Given the description of an element on the screen output the (x, y) to click on. 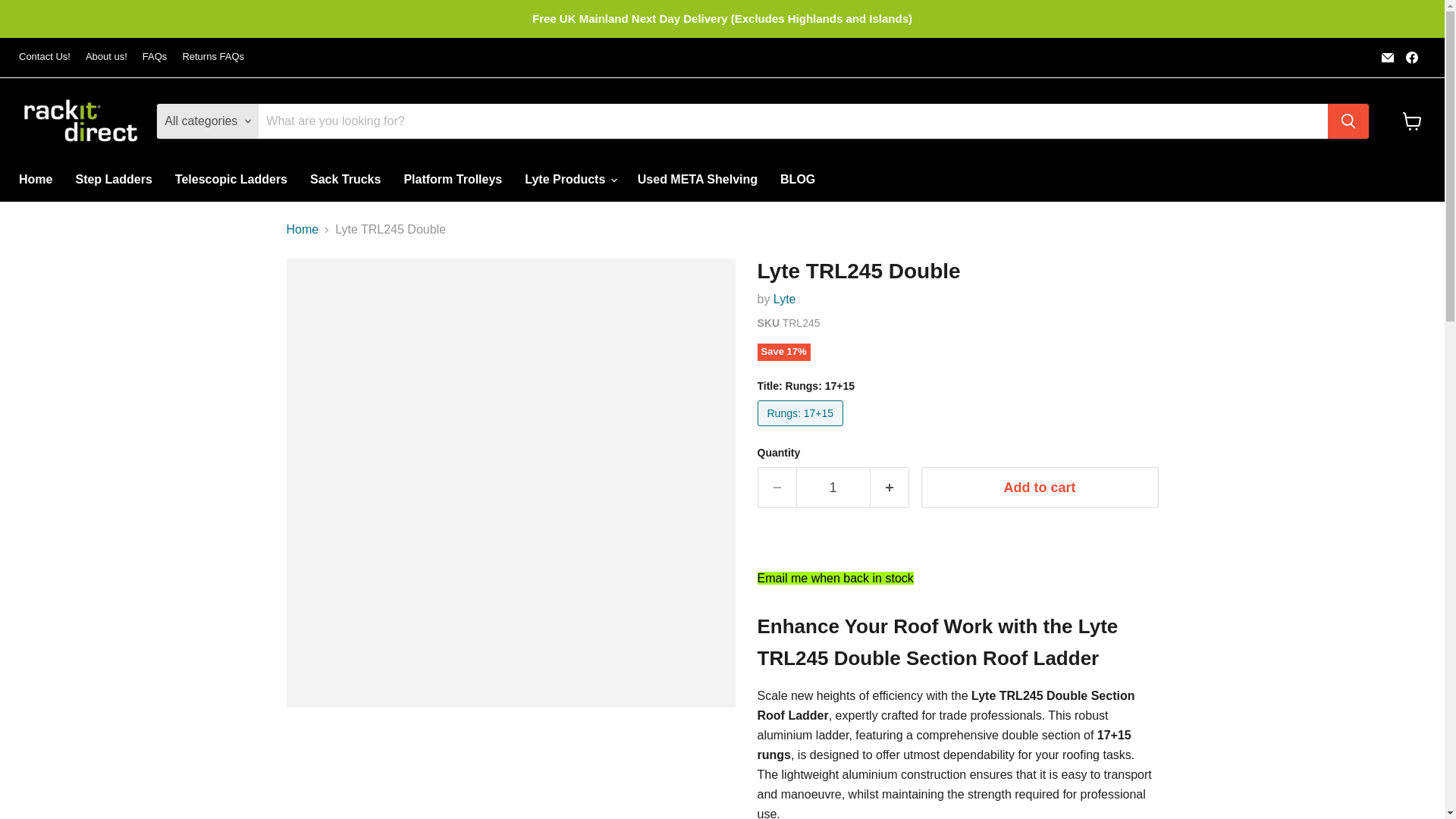
Step Ladders (113, 179)
View cart (1411, 121)
Lyte (784, 298)
Email RackitDirect (1387, 56)
Returns FAQs (213, 57)
FAQs (154, 57)
Telescopic Ladders (230, 179)
Home (35, 179)
Sack Trucks (344, 179)
Find us on Facebook (1411, 56)
Contact Us! (43, 57)
Email (1387, 56)
About us! (106, 57)
1 (833, 487)
Facebook (1411, 56)
